Given the description of an element on the screen output the (x, y) to click on. 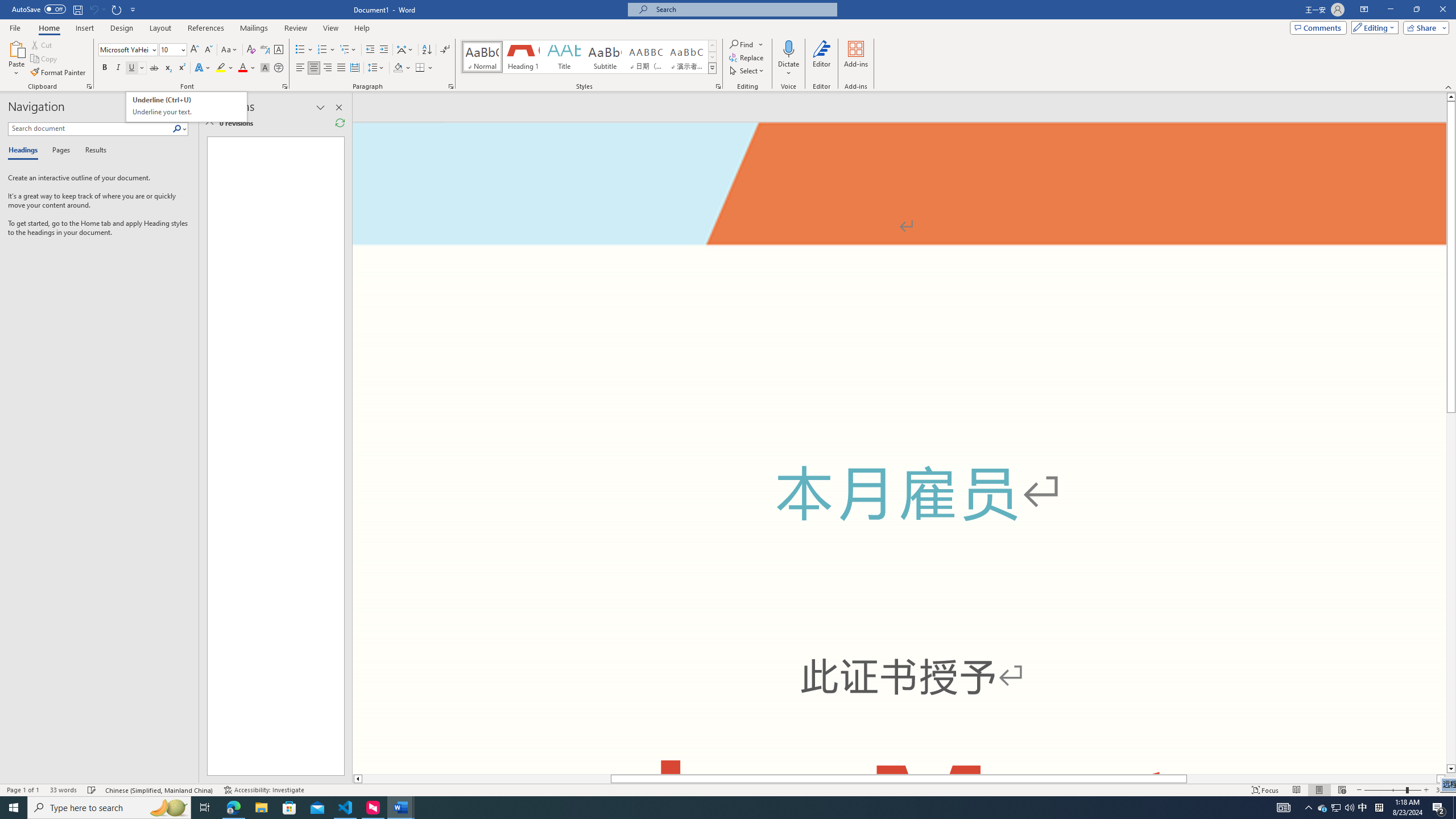
Show Detailed Summary (209, 122)
